Given the description of an element on the screen output the (x, y) to click on. 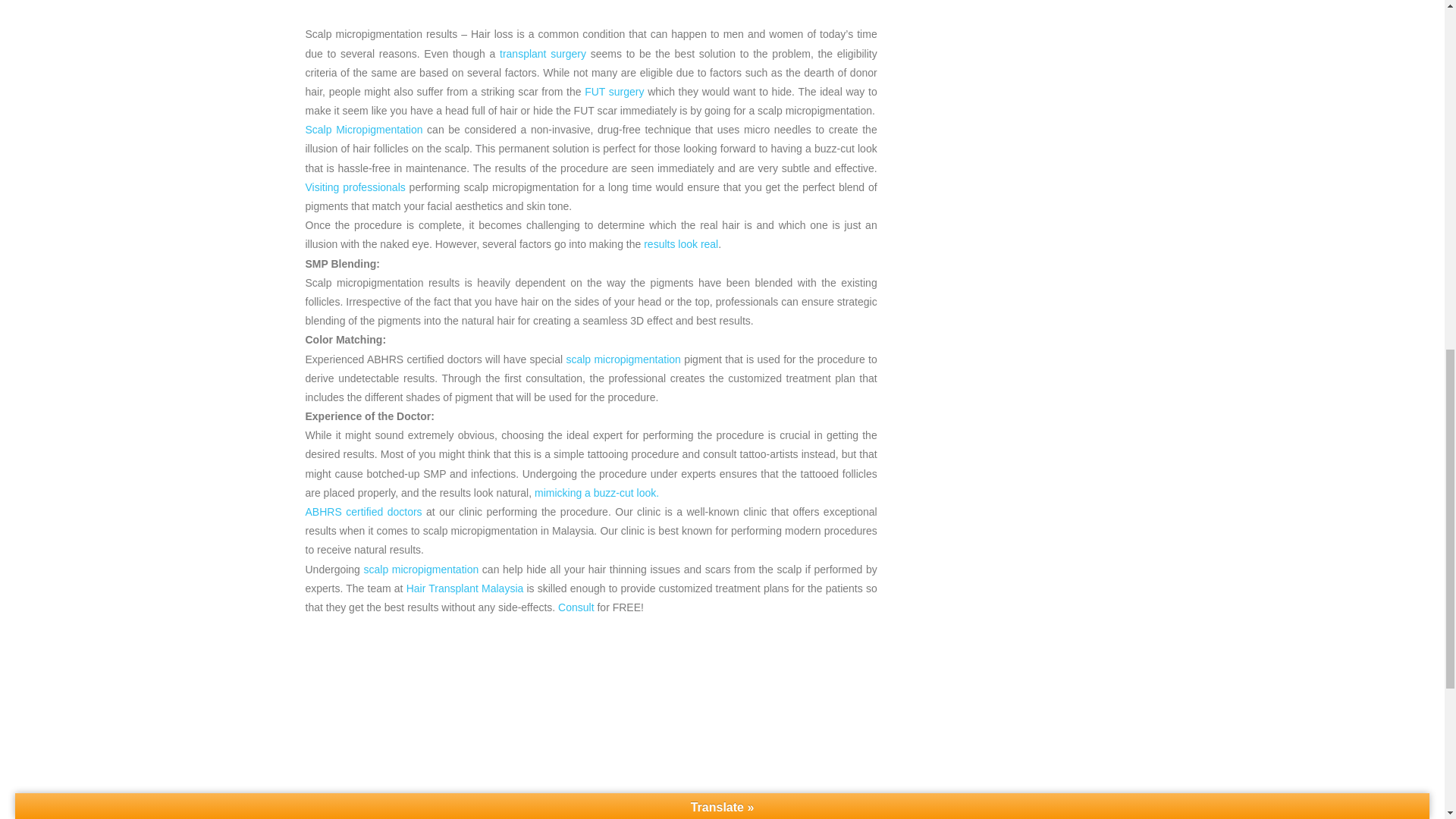
Hair Transplant Malaysia (465, 588)
transplant surgery (542, 53)
ABHRS certified doctors (363, 511)
Visiting professionals (354, 186)
mimicking a buzz-cut look. (596, 492)
FUT surgery (614, 91)
scalp micropigmentation (621, 358)
scalp micropigmentation (421, 569)
Scalp Micropigmentation (363, 129)
Consult (575, 607)
